Given the description of an element on the screen output the (x, y) to click on. 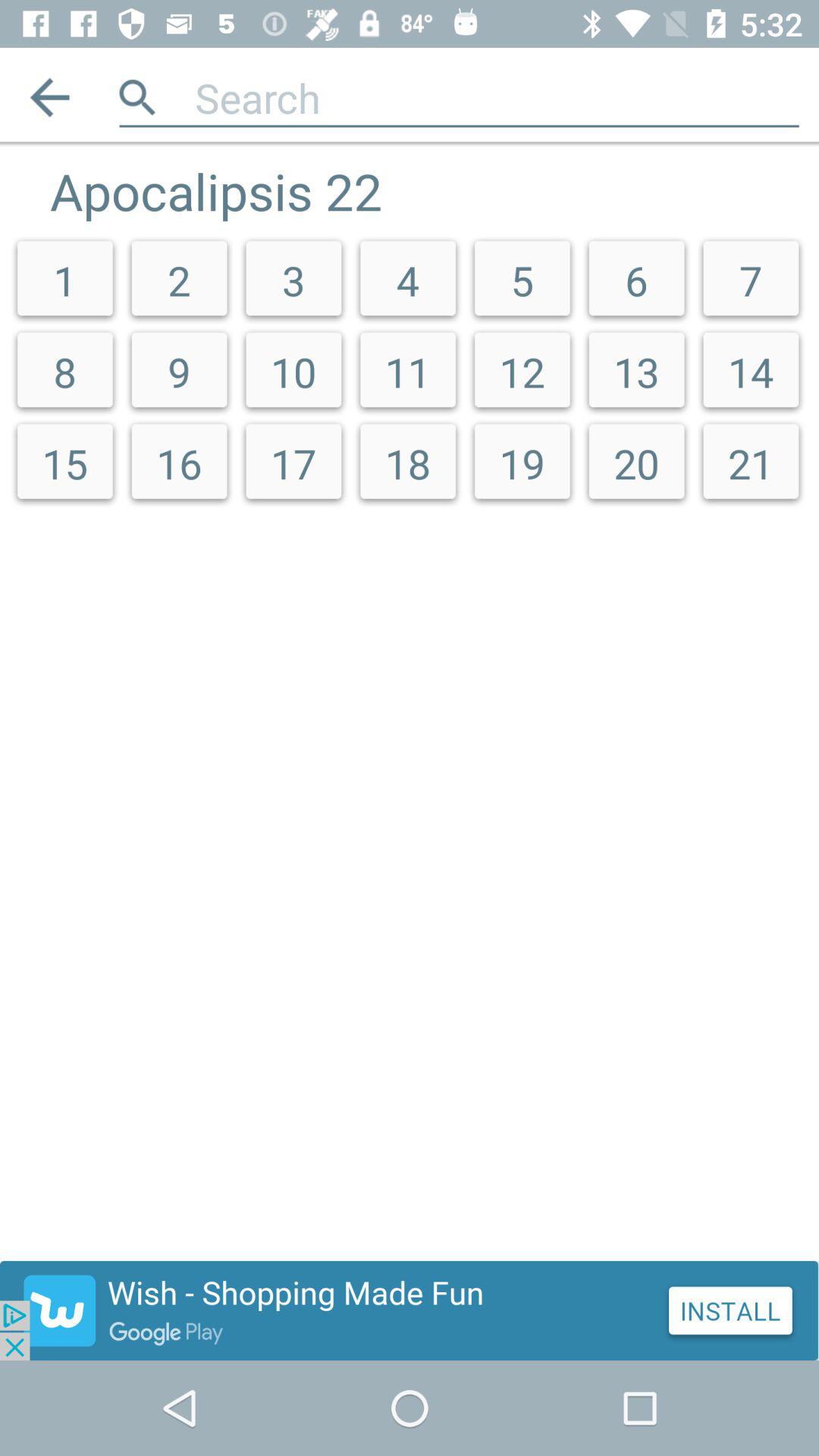
go back (49, 97)
